Given the description of an element on the screen output the (x, y) to click on. 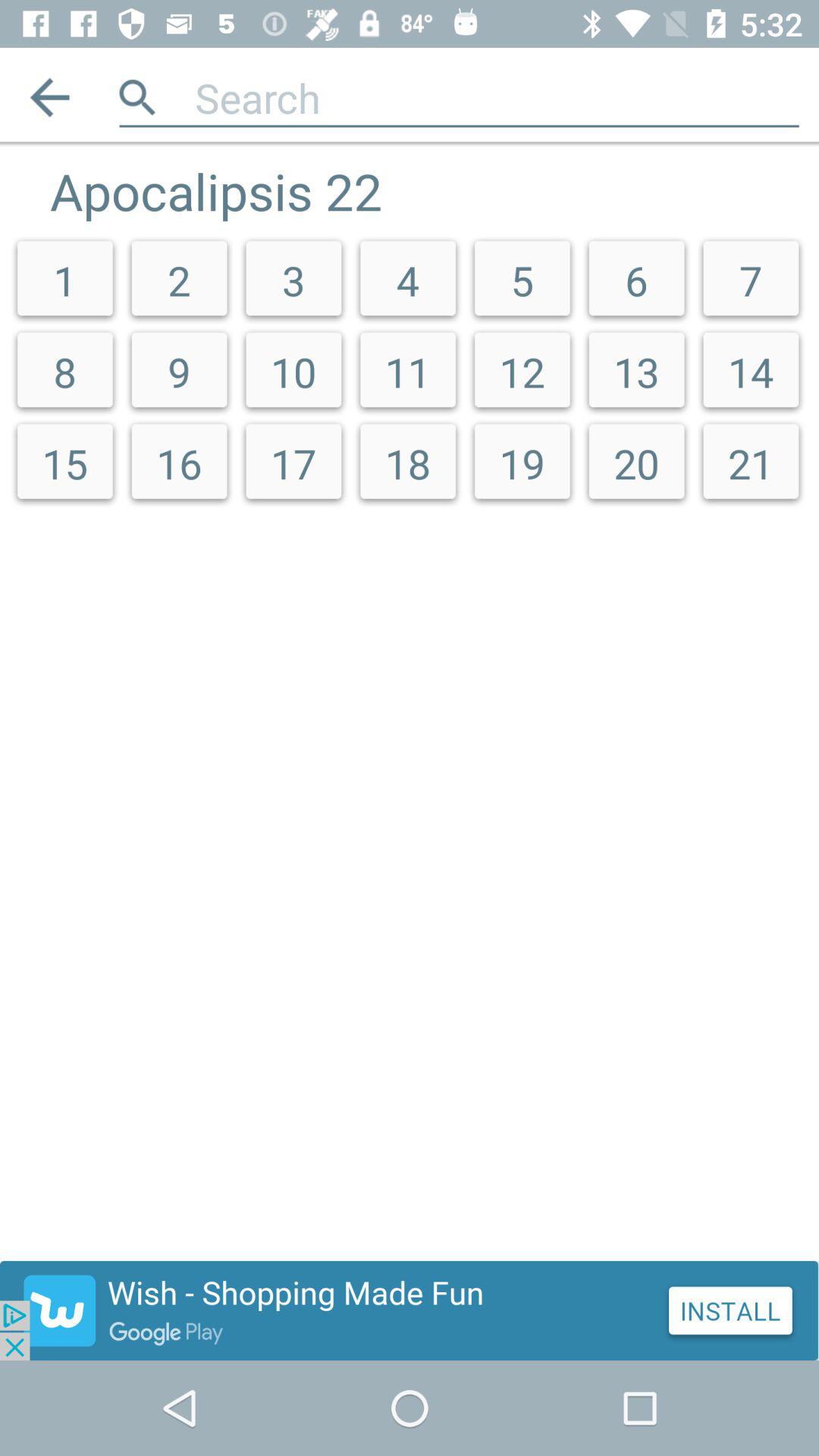
go back (49, 97)
